Given the description of an element on the screen output the (x, y) to click on. 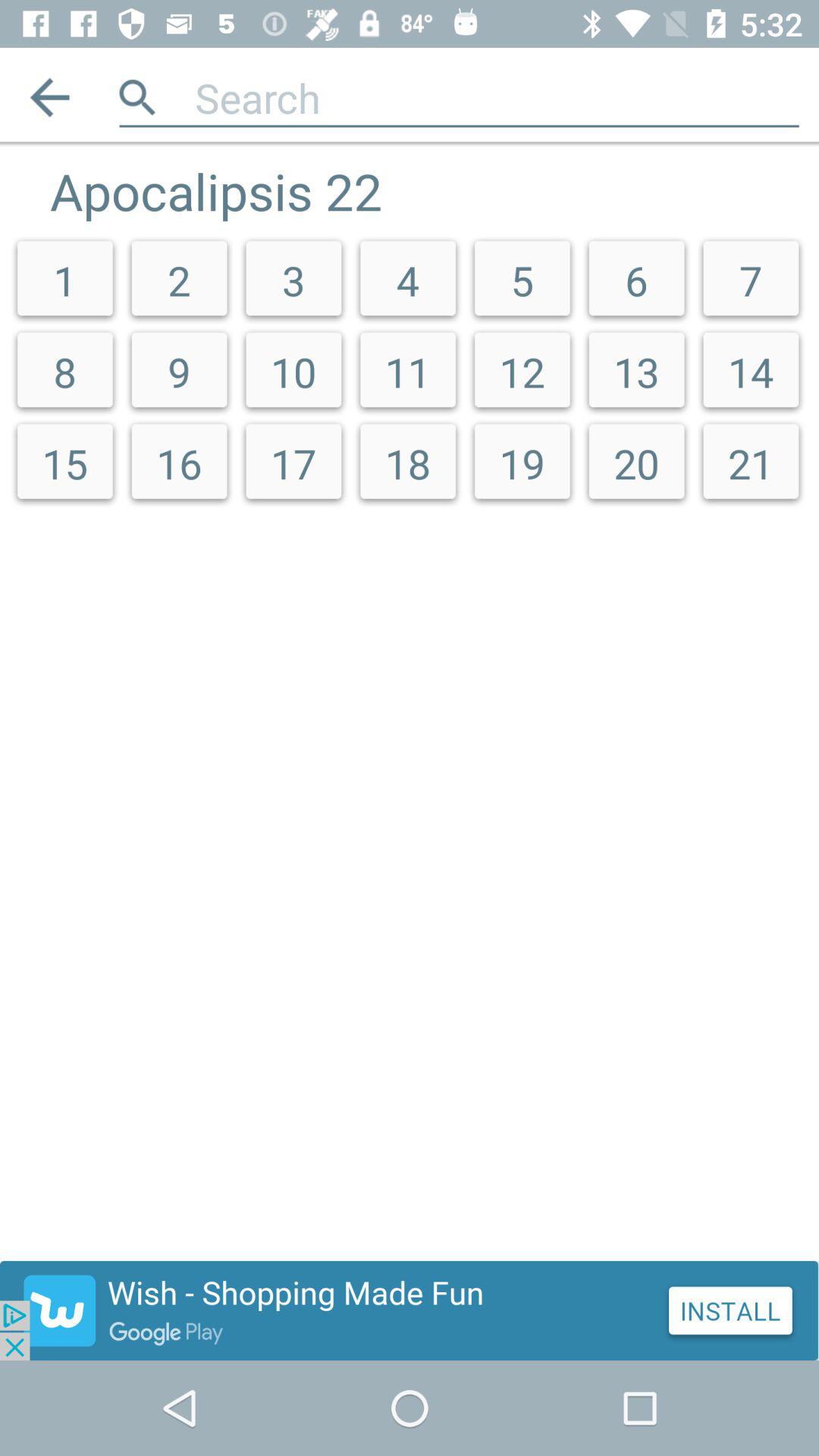
go back (49, 97)
